Given the description of an element on the screen output the (x, y) to click on. 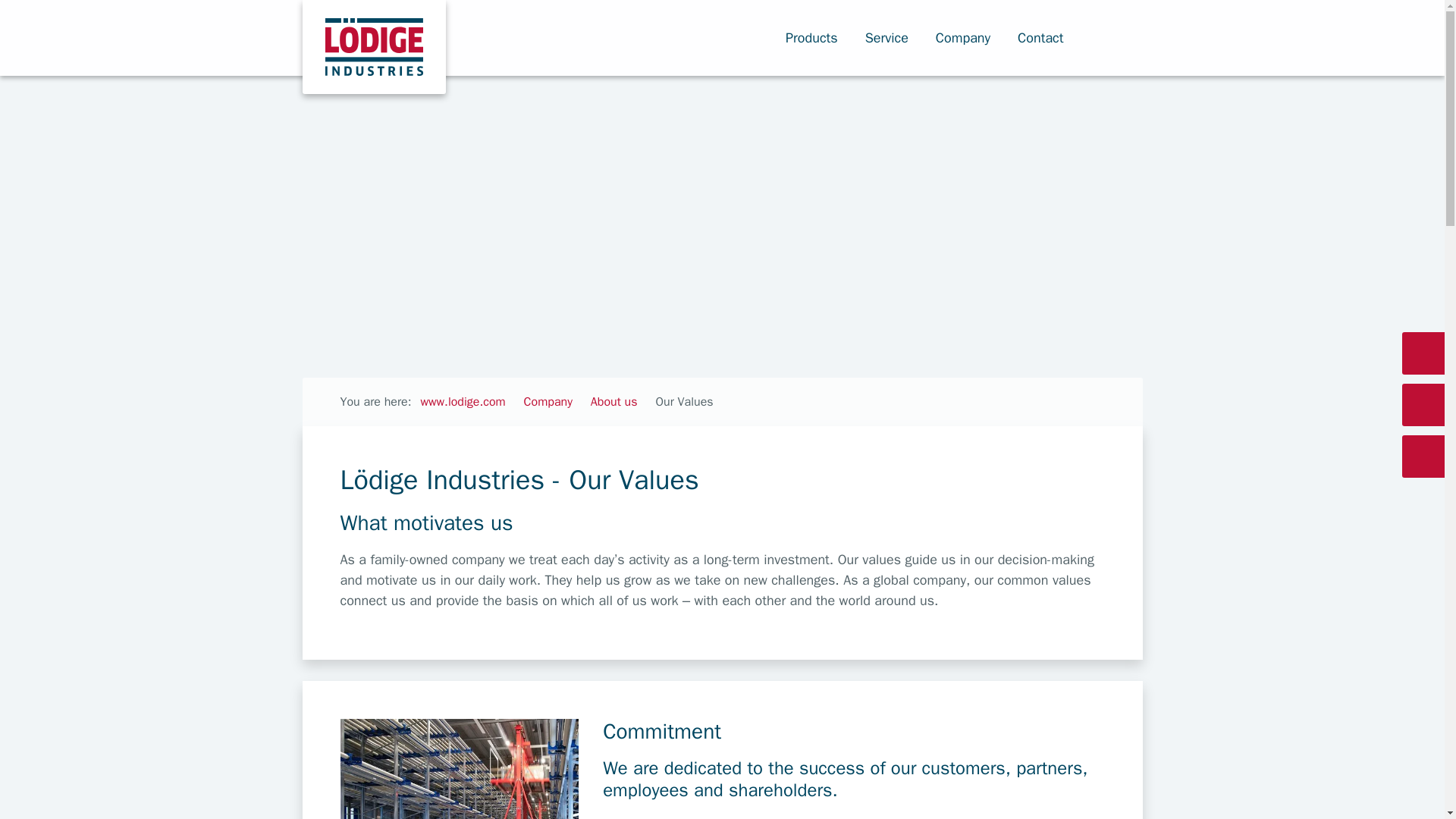
Company (971, 38)
Products (819, 38)
Service (893, 38)
About us (614, 401)
Contact (1047, 38)
www.lodige.com (462, 401)
Company (548, 401)
